Given the description of an element on the screen output the (x, y) to click on. 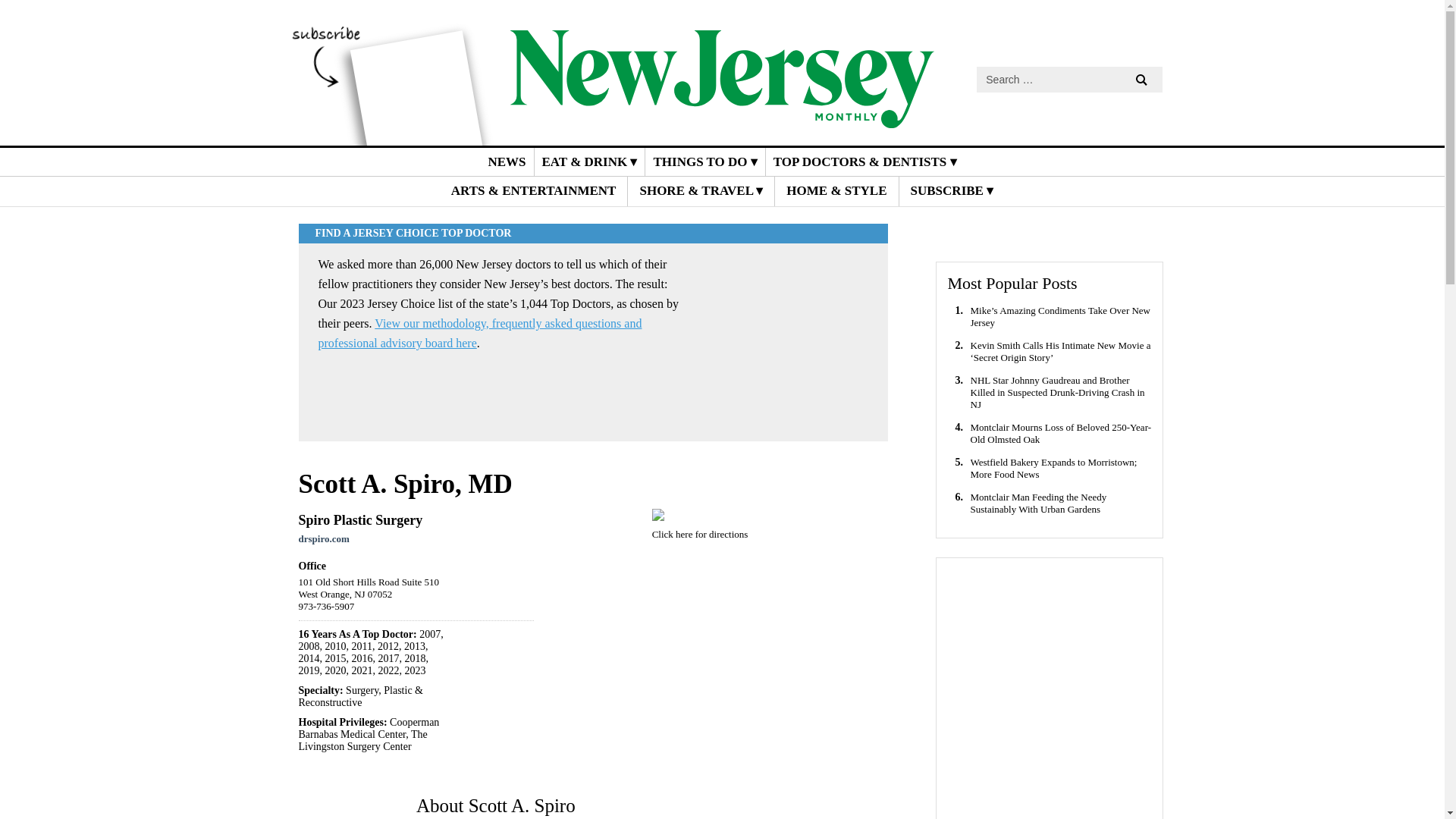
Search for: (1068, 79)
Montclair Mourns Loss of Beloved 250-Year-Old Olmsted Oak (1062, 433)
drspiro.com (323, 538)
NEWS (506, 162)
Westfield Bakery Expands to Morristown; More Food News (1062, 468)
Click here for directions (700, 533)
New Jersey Monthly (722, 116)
